Given the description of an element on the screen output the (x, y) to click on. 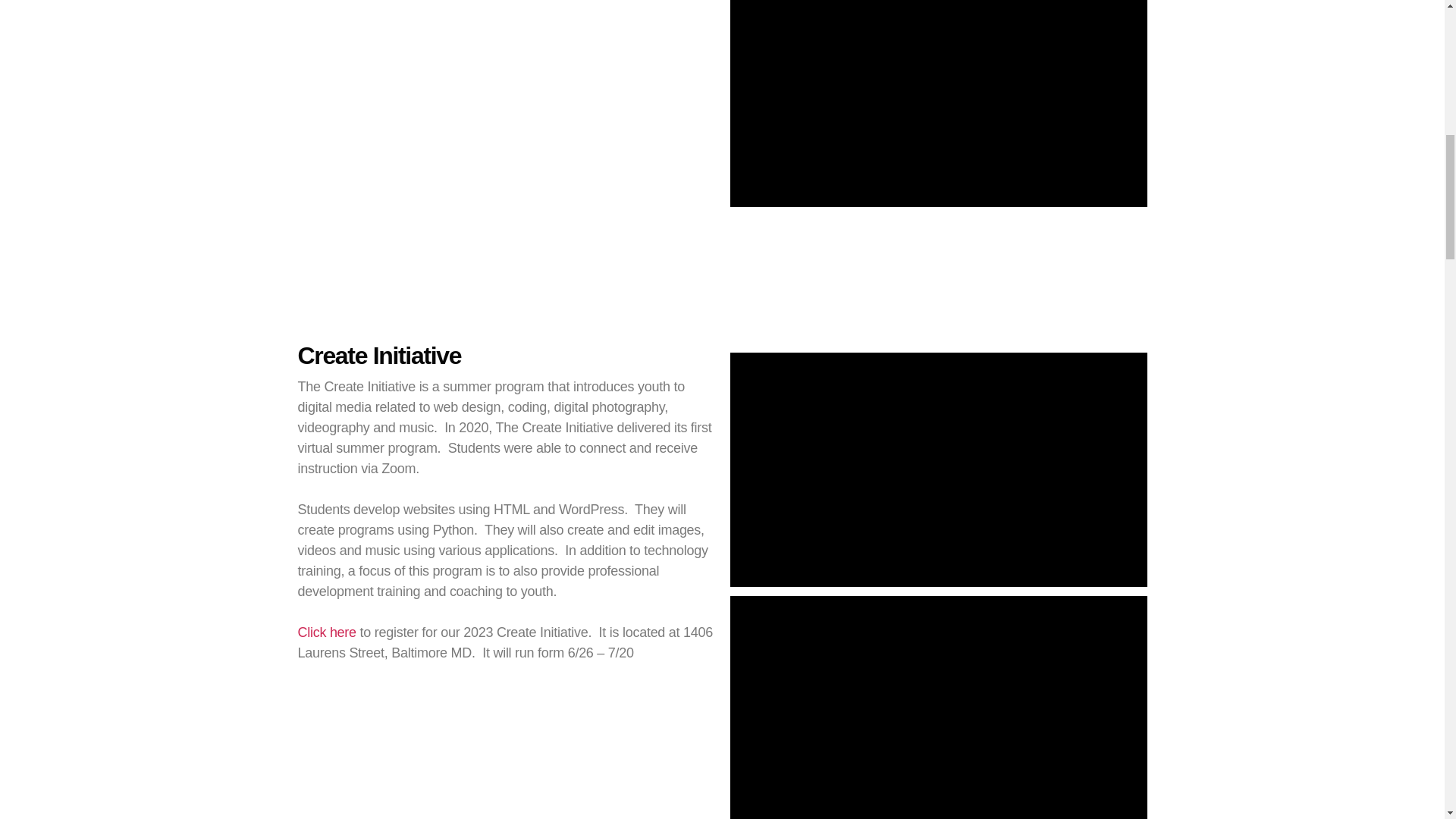
youtube Video Player (938, 707)
youtube Video Player (938, 469)
youtube Video Player (938, 103)
